Given the description of an element on the screen output the (x, y) to click on. 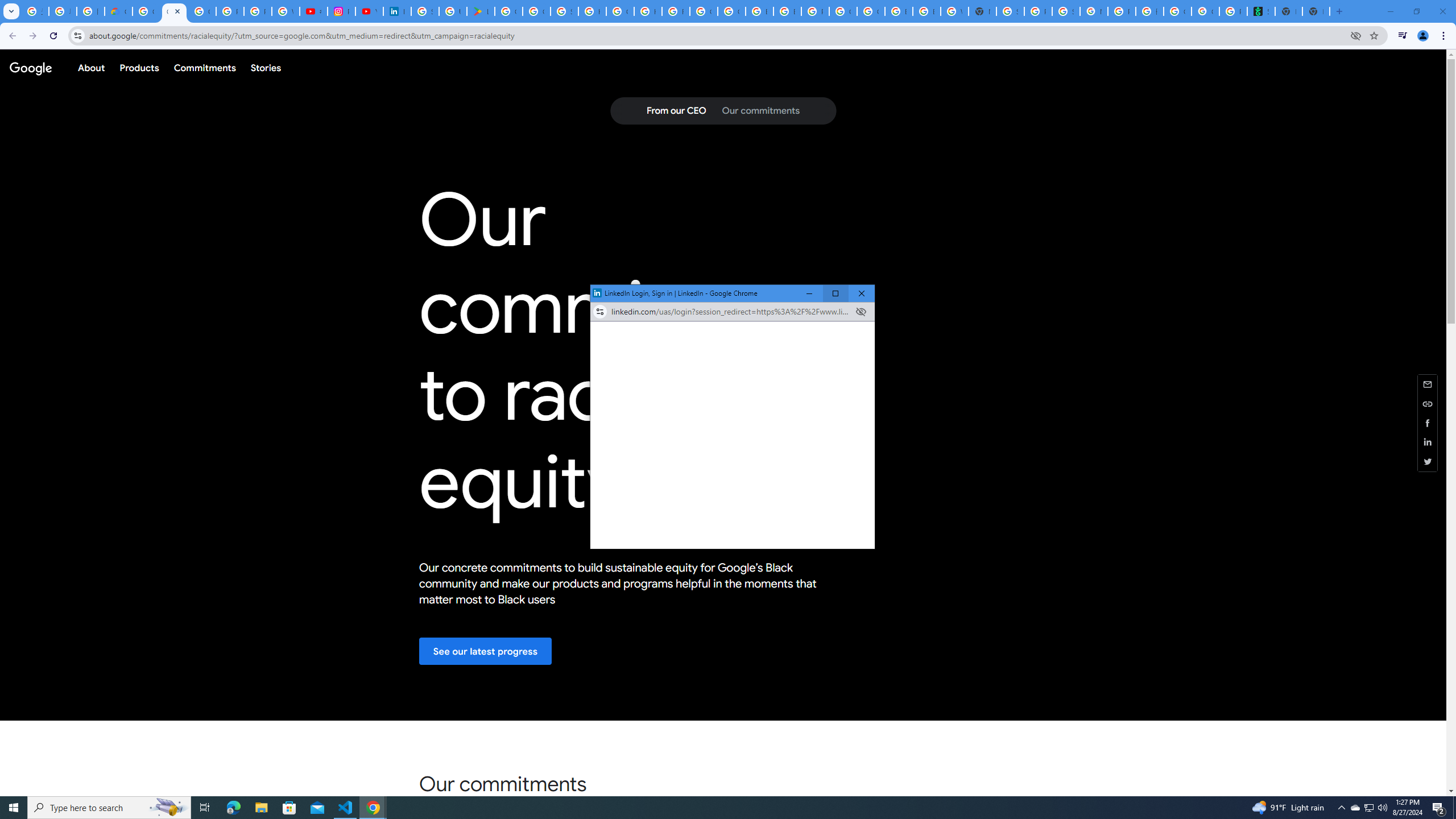
Google Workspace - Specific Terms (536, 11)
Share this page (Email) (1427, 383)
Sign in - Google Accounts (1010, 11)
Microsoft Edge (233, 807)
Start (13, 807)
Google Chrome - 2 running windows (373, 807)
Browse Chrome as a guest - Computer - Google Chrome Help (787, 11)
Browse Chrome as a guest - Computer - Google Chrome Help (759, 11)
Third-party cookies blocked (860, 311)
